Given the description of an element on the screen output the (x, y) to click on. 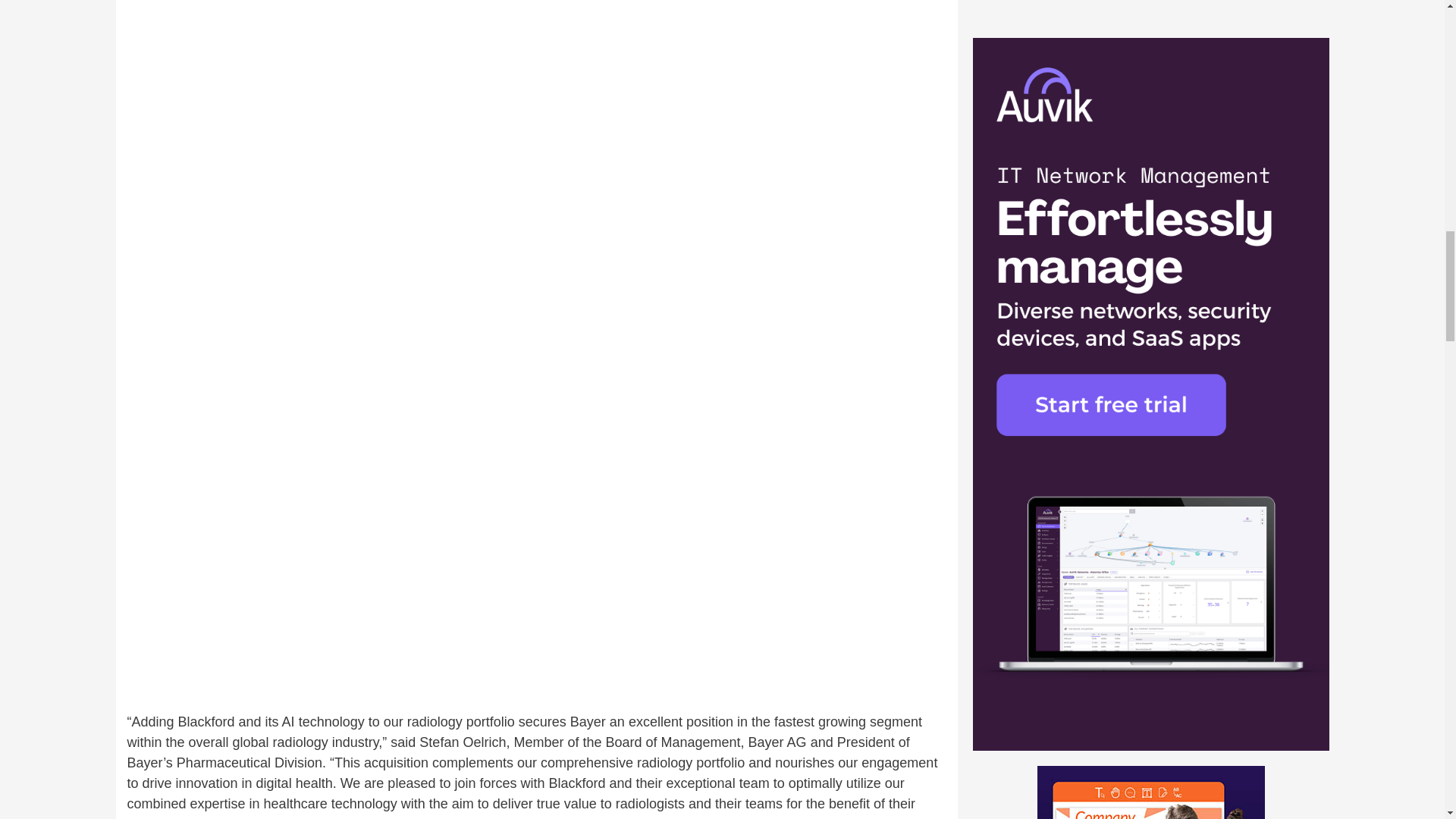
Search (1276, 206)
Search (1276, 206)
